Given the description of an element on the screen output the (x, y) to click on. 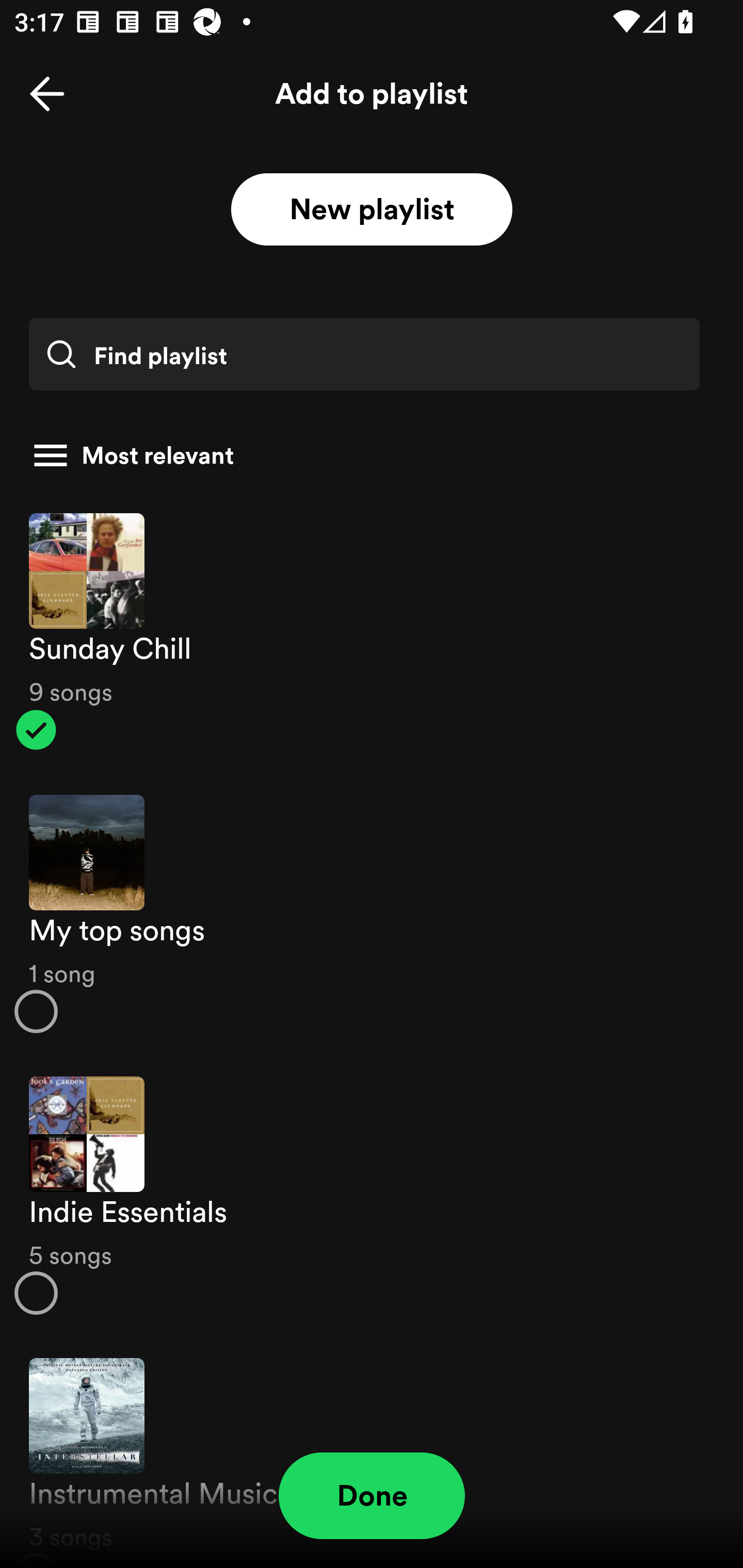
Back (46, 93)
New playlist (371, 210)
Find playlist (363, 354)
Most relevant (363, 455)
Sunday Chill 9 songs (371, 631)
My top songs 1 song (371, 914)
Indie Essentials 5 songs (371, 1195)
Instrumental Music 3 songs (371, 1451)
Done (371, 1495)
